Given the description of an element on the screen output the (x, y) to click on. 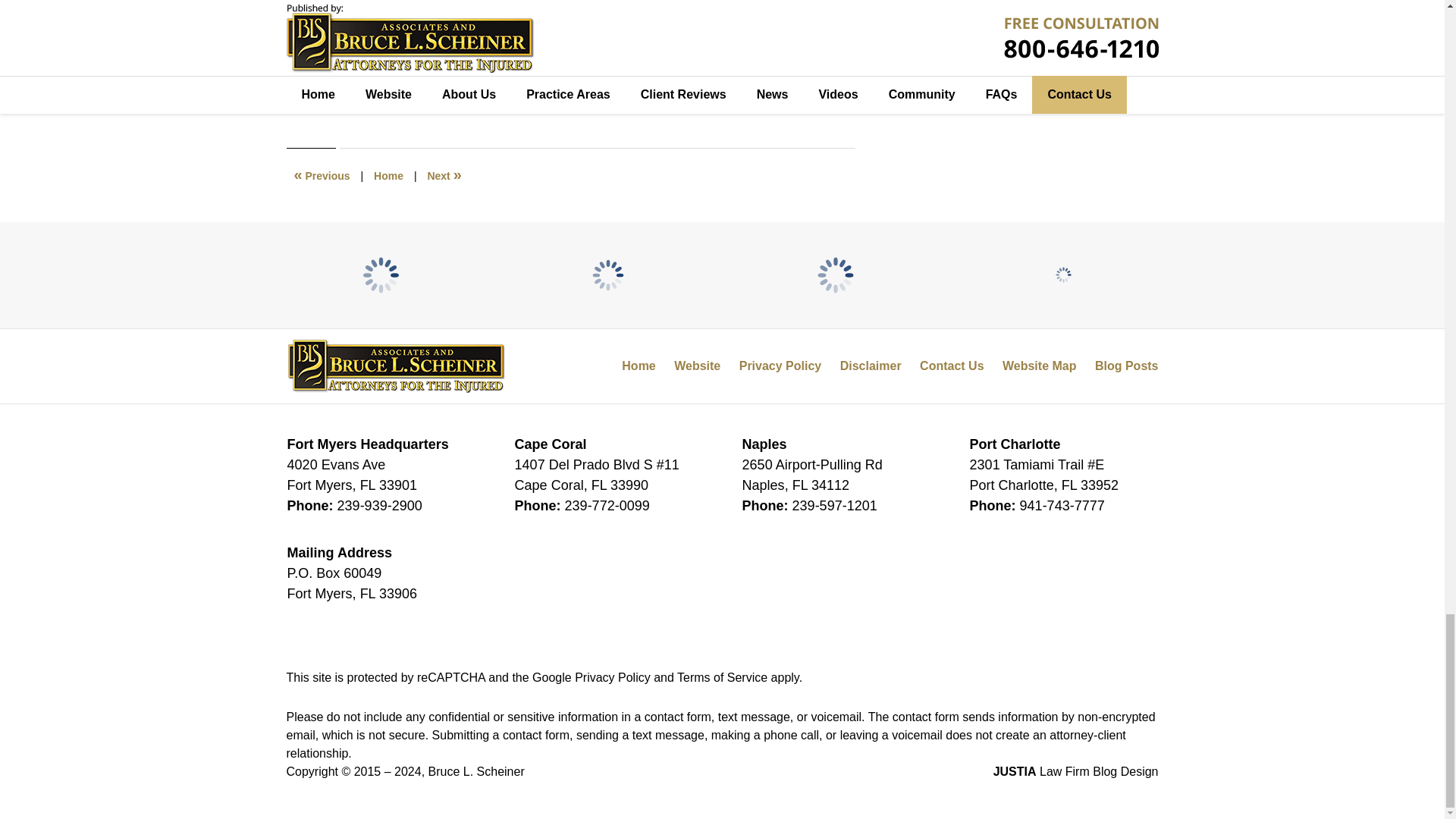
Home (388, 175)
www.focusedonjustice.com (482, 55)
Nursing Home Abuse (390, 89)
View all posts in Nursing Home Abuse (390, 89)
